Given the description of an element on the screen output the (x, y) to click on. 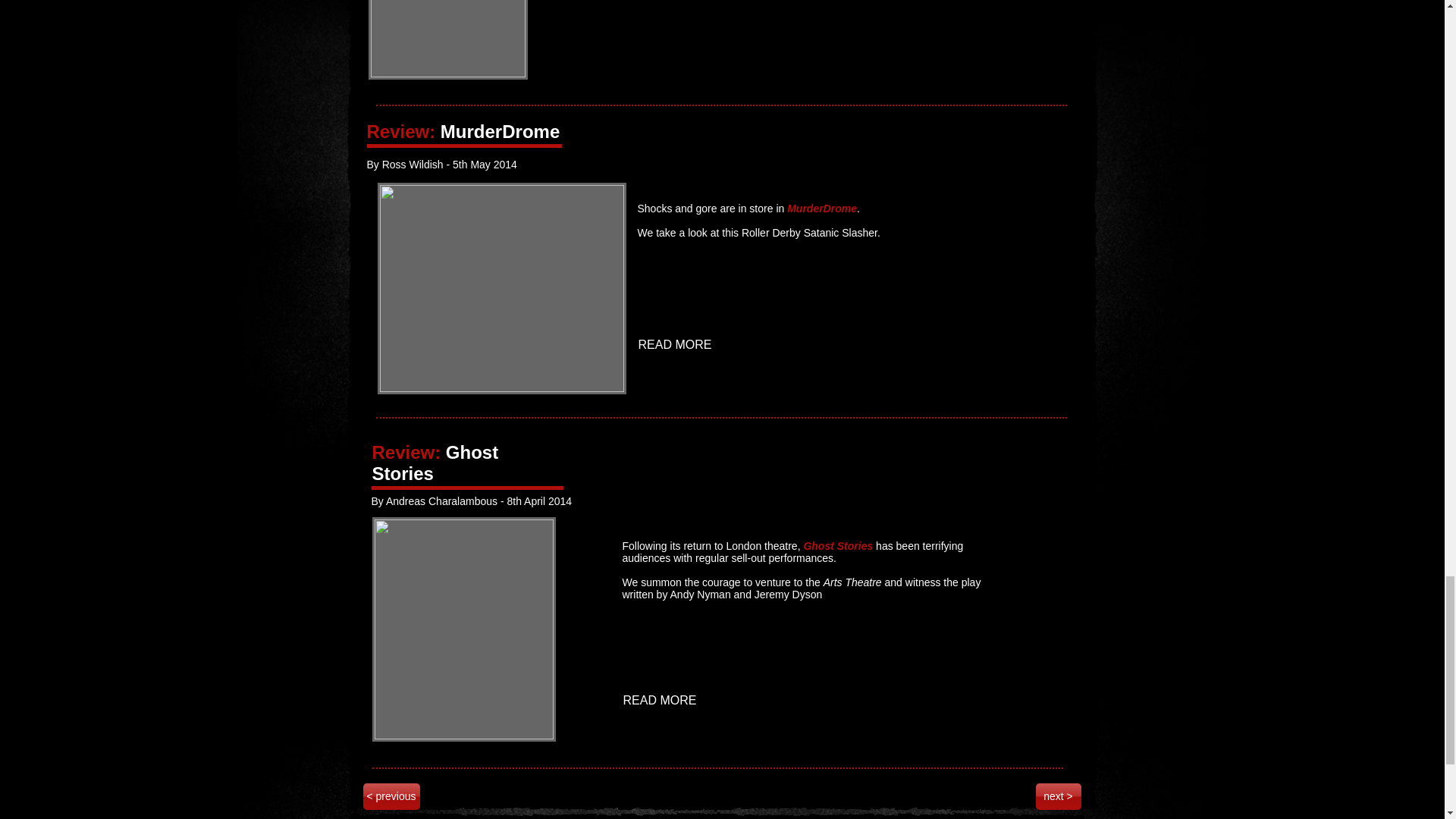
READ MORE (676, 345)
READ MORE (661, 701)
Cover5.jpg (447, 39)
Review: Ghost Stories (434, 463)
Review: MurderDrome (463, 131)
